Given the description of an element on the screen output the (x, y) to click on. 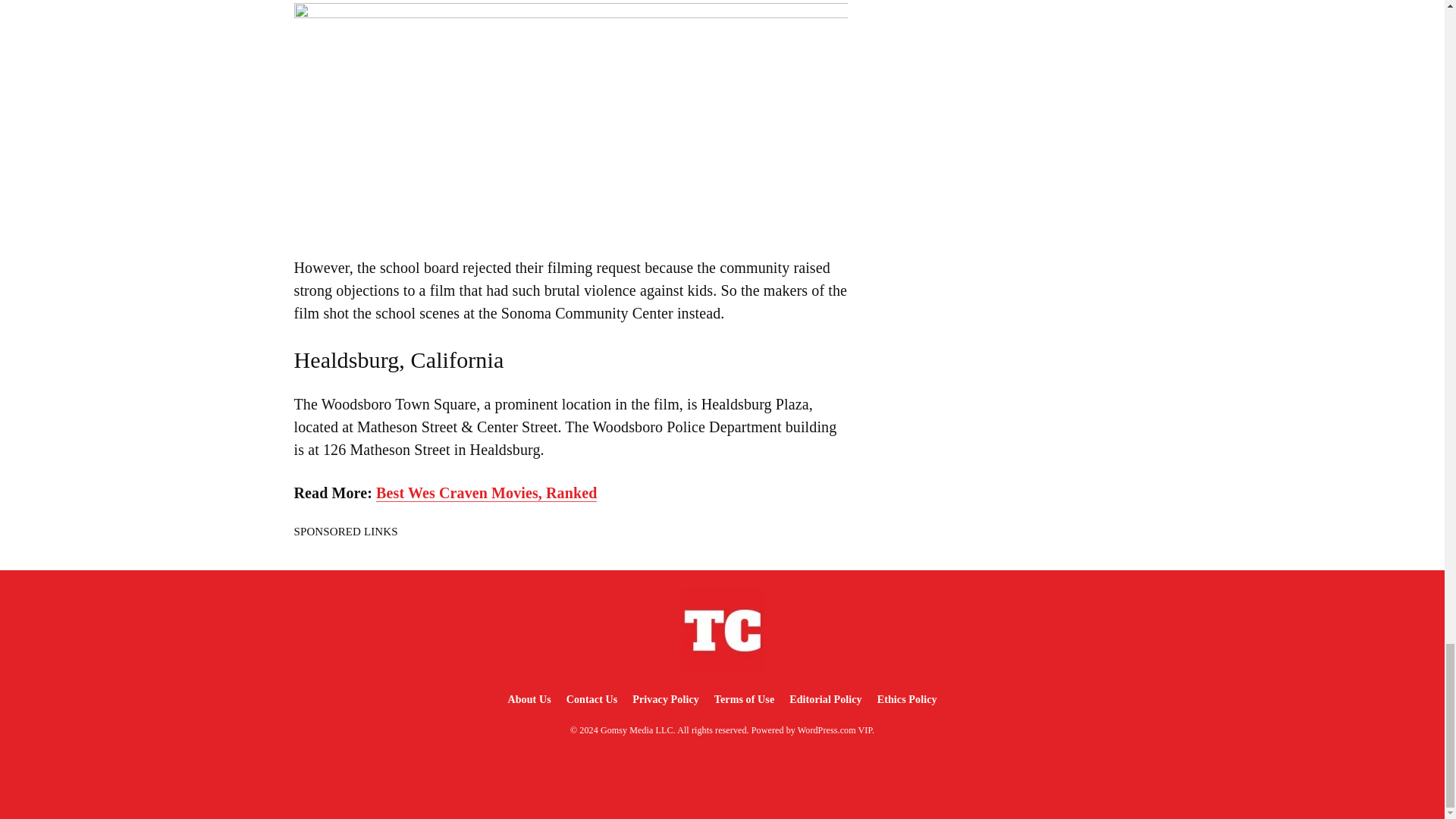
Best Wes Craven Movies, Ranked (485, 493)
WordPress.com VIP (834, 729)
About Us (528, 699)
Privacy Policy (665, 699)
Contact Us (592, 699)
Ethics Policy (906, 699)
Terms of Use (743, 699)
Editorial Policy (825, 699)
